Given the description of an element on the screen output the (x, y) to click on. 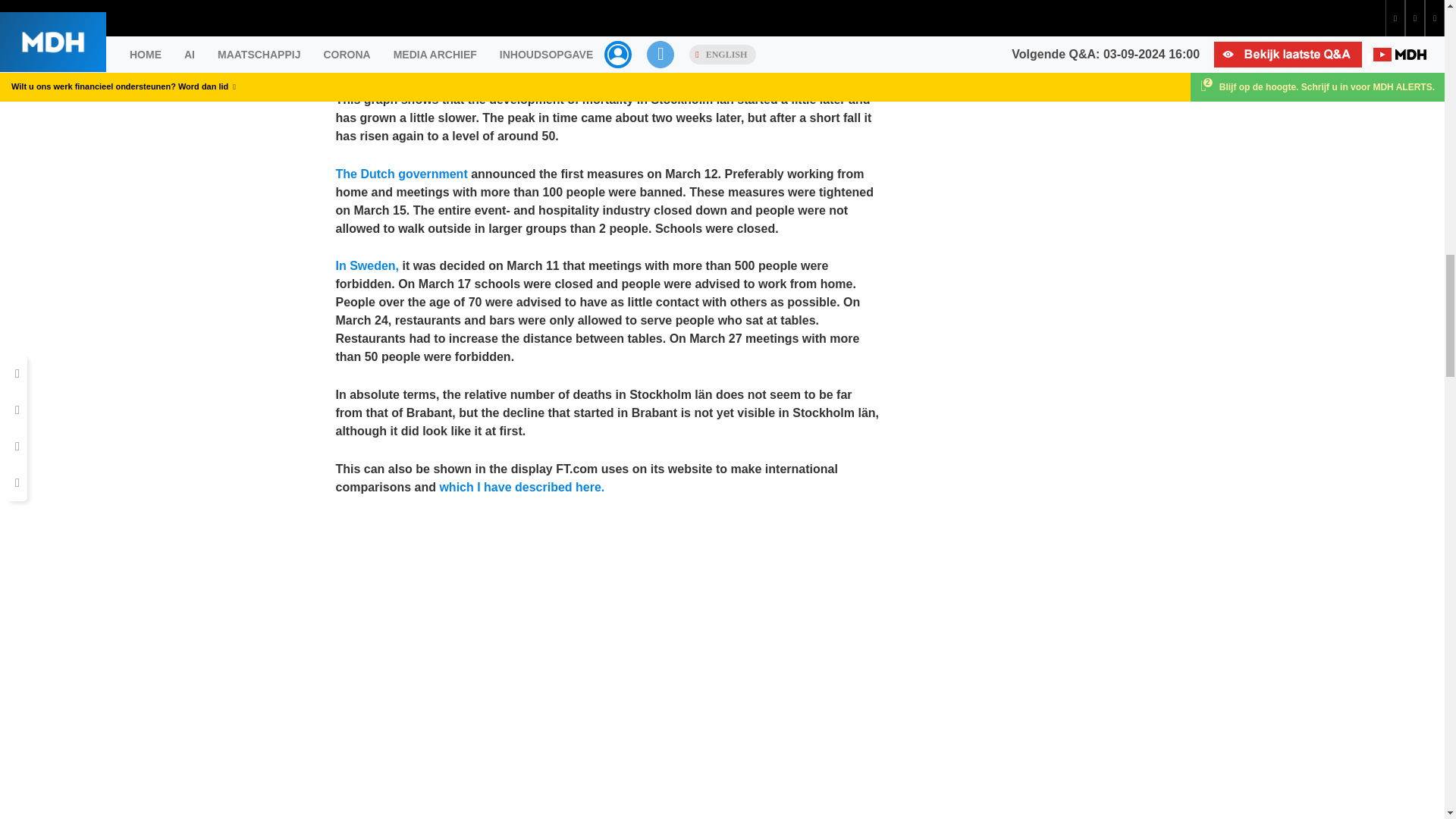
In Sweden, (366, 265)
The Dutch government (400, 173)
which I have described here. (521, 486)
Swedish Covid approach costs 30 more deaths per day - 5993 (607, 27)
